Given the description of an element on the screen output the (x, y) to click on. 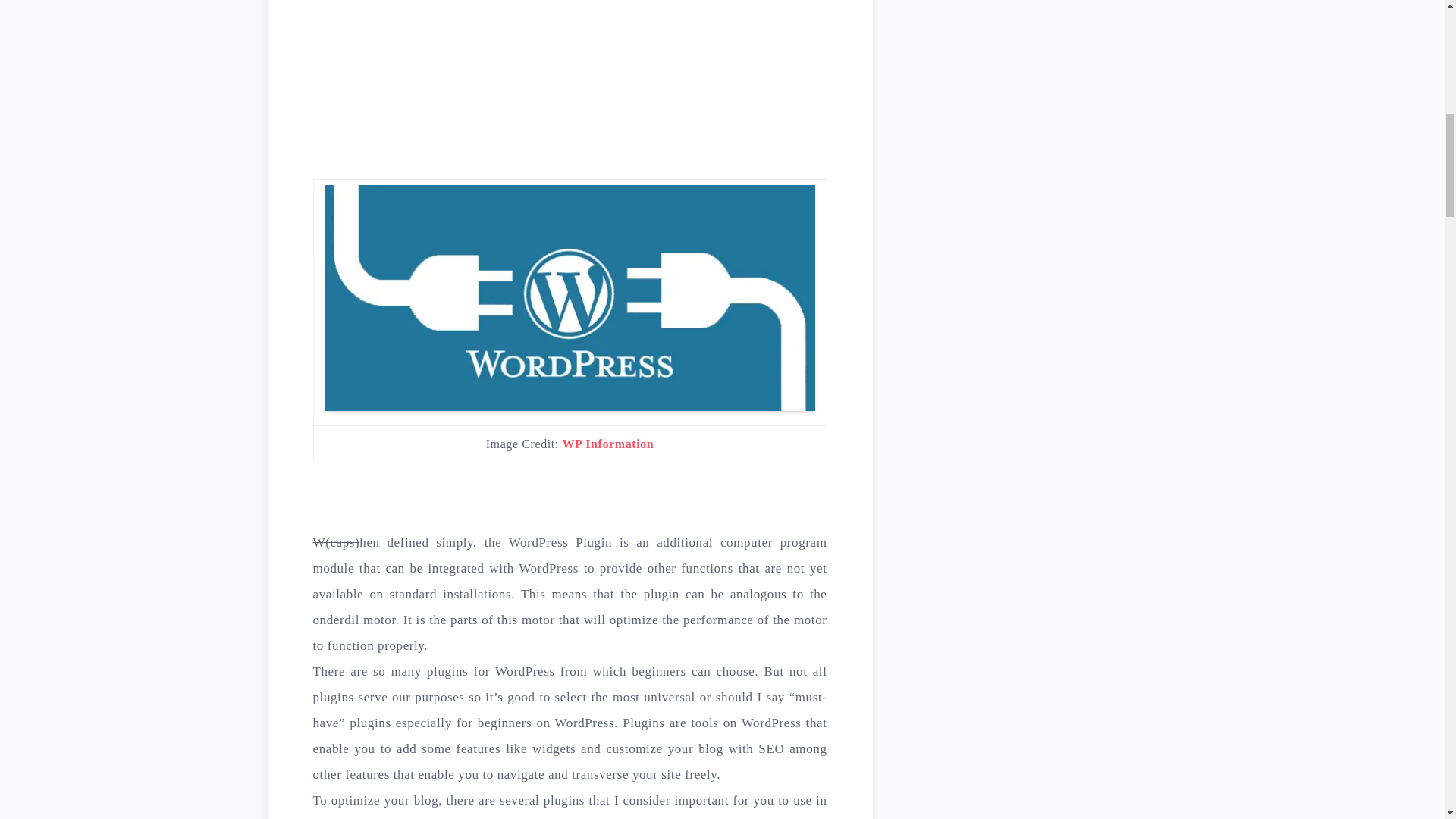
wp plugins for beginners (568, 298)
Advertisement (570, 80)
Advertisement (1050, 39)
WP Information (607, 443)
